Given the description of an element on the screen output the (x, y) to click on. 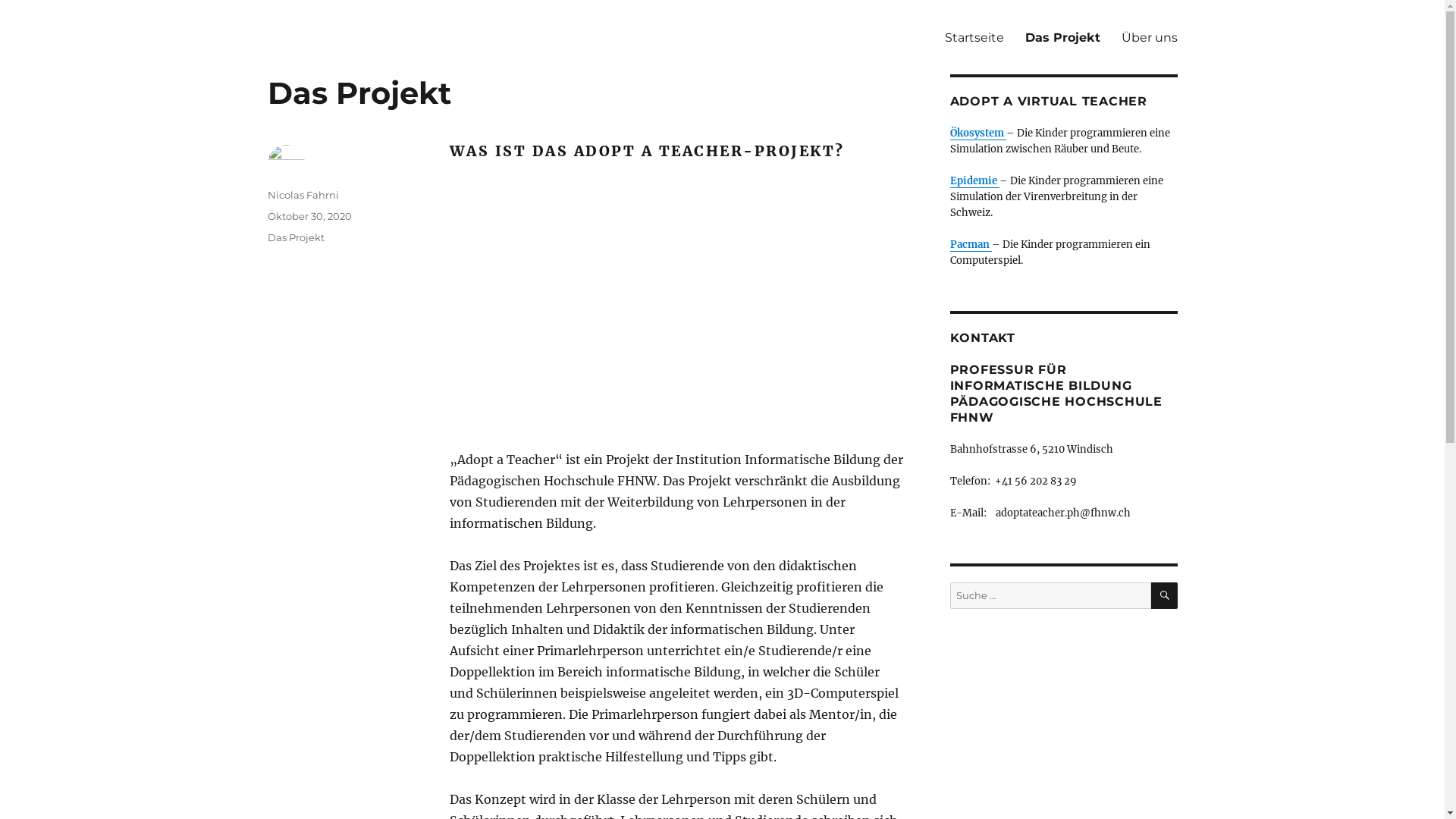
Nicolas Fahrni Element type: text (302, 194)
Oktober 30, 2020 Element type: text (308, 216)
Epidemie Element type: text (973, 180)
Pacman Element type: text (970, 244)
Das Projekt Element type: text (1062, 37)
Das Projekt Element type: text (294, 237)
SUCHE Element type: text (1164, 595)
Adopt a Teacher Element type: text (356, 12)
Startseite Element type: text (974, 37)
